Given the description of an element on the screen output the (x, y) to click on. 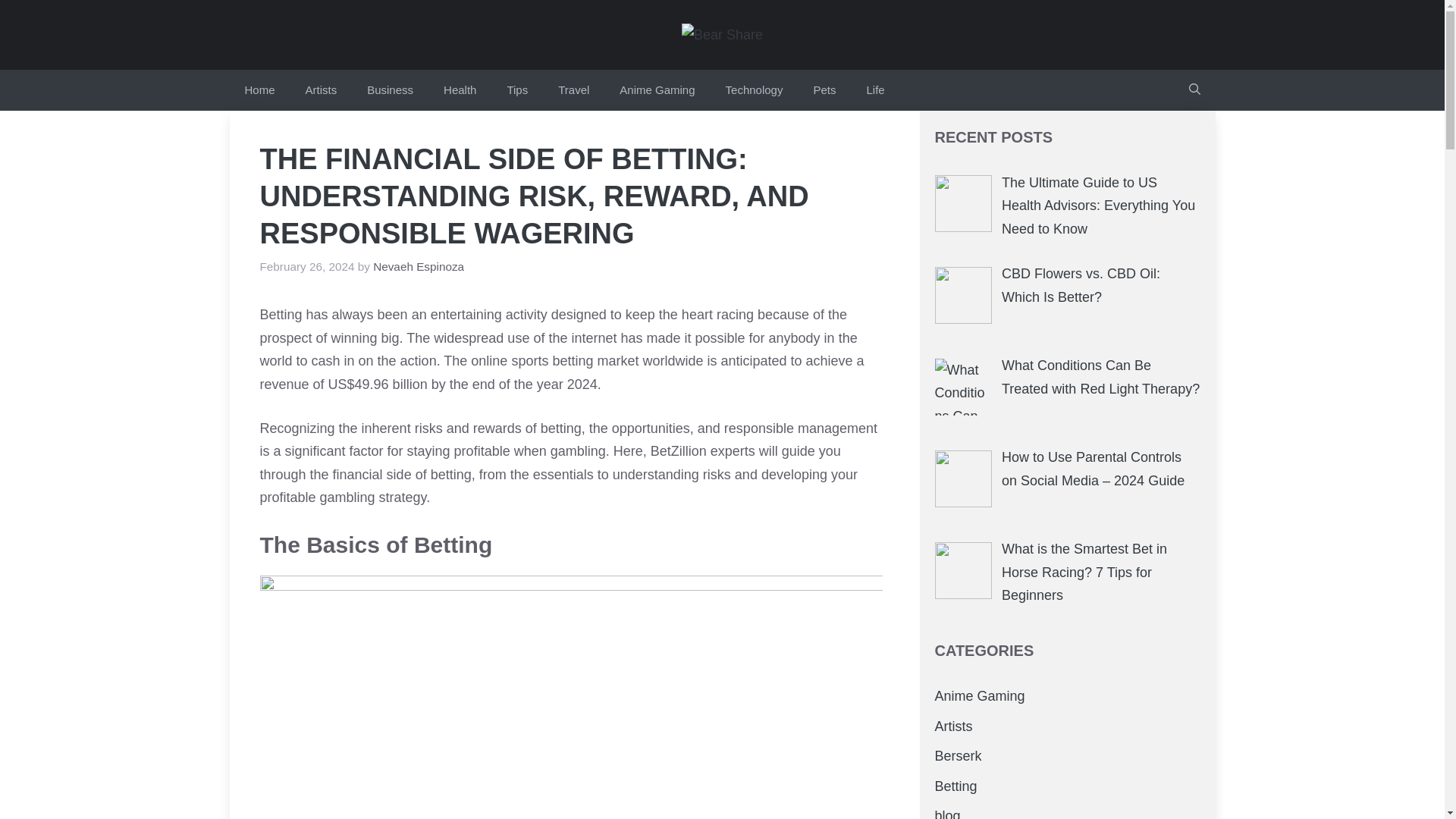
Health (460, 89)
View all posts by Nevaeh Espinoza (418, 266)
Nevaeh Espinoza (418, 266)
Home (258, 89)
Tips (517, 89)
Anime Gaming (657, 89)
Technology (753, 89)
Travel (573, 89)
Anime Gaming (979, 695)
Berserk (957, 755)
Artists (320, 89)
Life (874, 89)
What Conditions Can Be Treated with Red Light Therapy? (1100, 376)
CBD Flowers vs. CBD Oil: Which Is Better? (1080, 285)
